Given the description of an element on the screen output the (x, y) to click on. 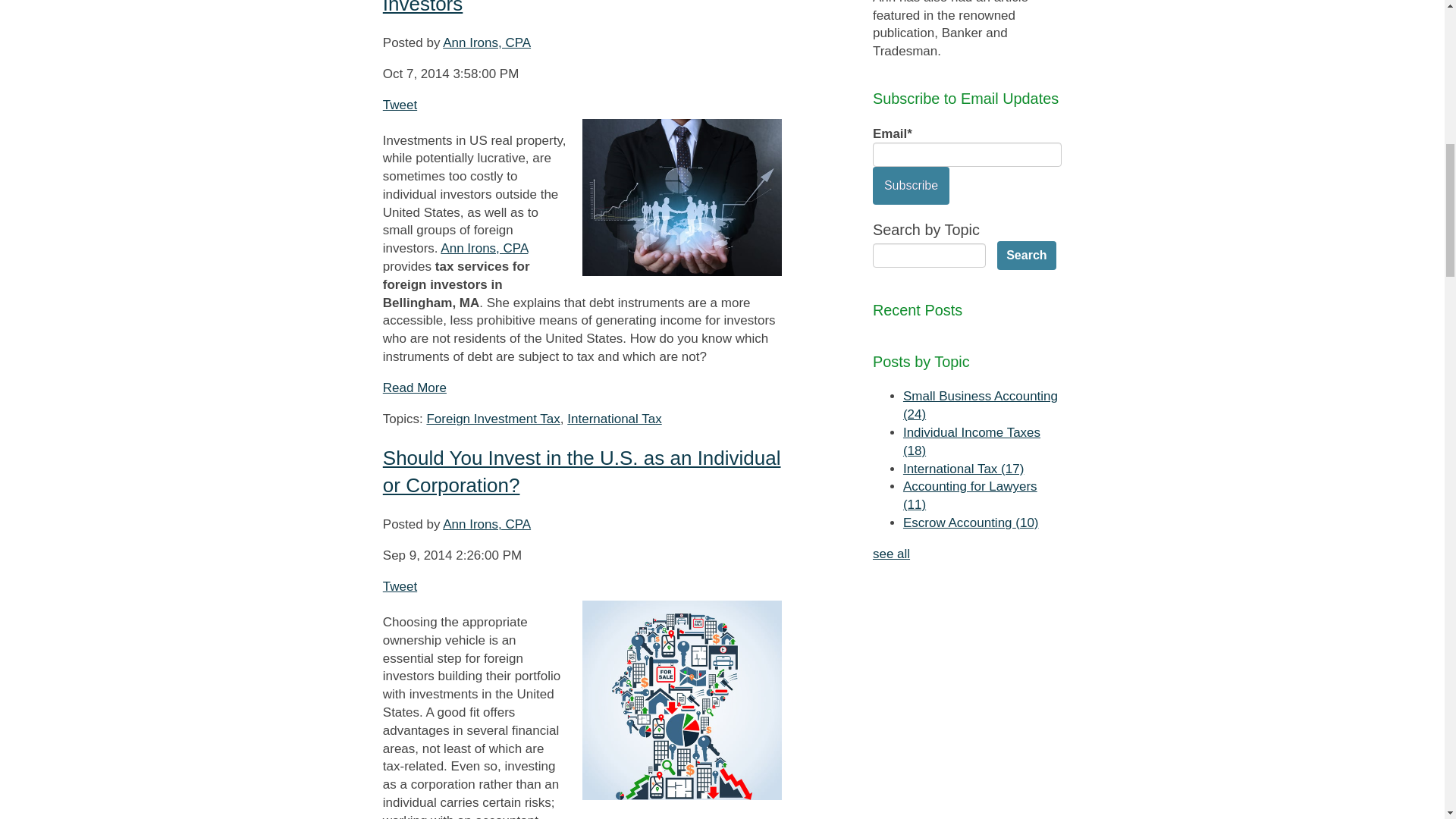
Ann Irons, CPA (484, 247)
Tweet (399, 104)
Subscribe (910, 185)
Read More (414, 387)
Foreign Investment Tax (492, 418)
Taxing Investment Income for Nonresident Investors (567, 7)
International Tax (614, 418)
Ann Irons, CPA (486, 42)
